Given the description of an element on the screen output the (x, y) to click on. 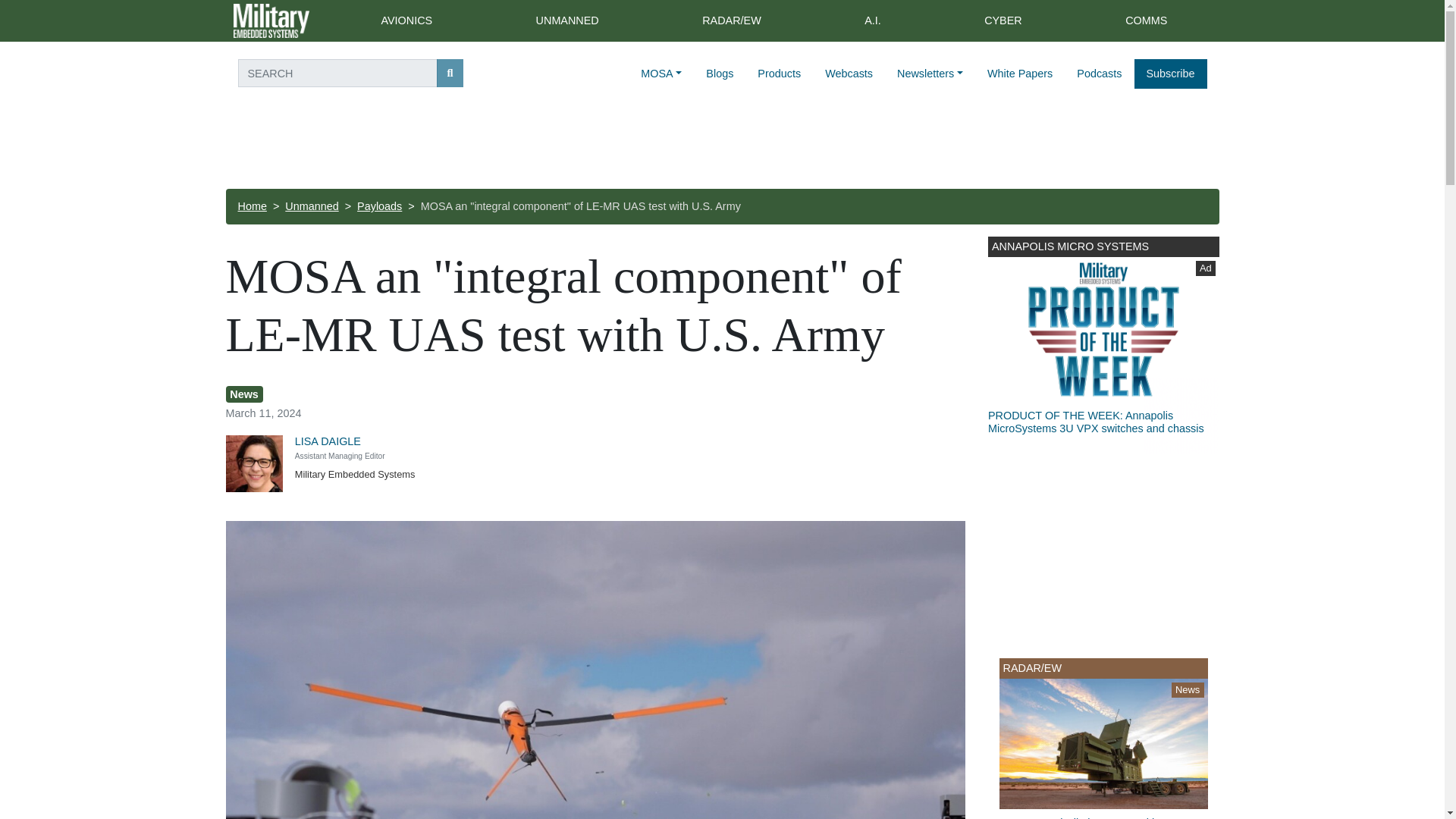
UNMANNED (566, 20)
3rd party ad content (1102, 344)
COMMS (1147, 20)
A.I. (872, 20)
CYBER (1003, 20)
3rd party ad content (1103, 547)
AVIONICS (406, 20)
3rd party ad content (721, 146)
